Given the description of an element on the screen output the (x, y) to click on. 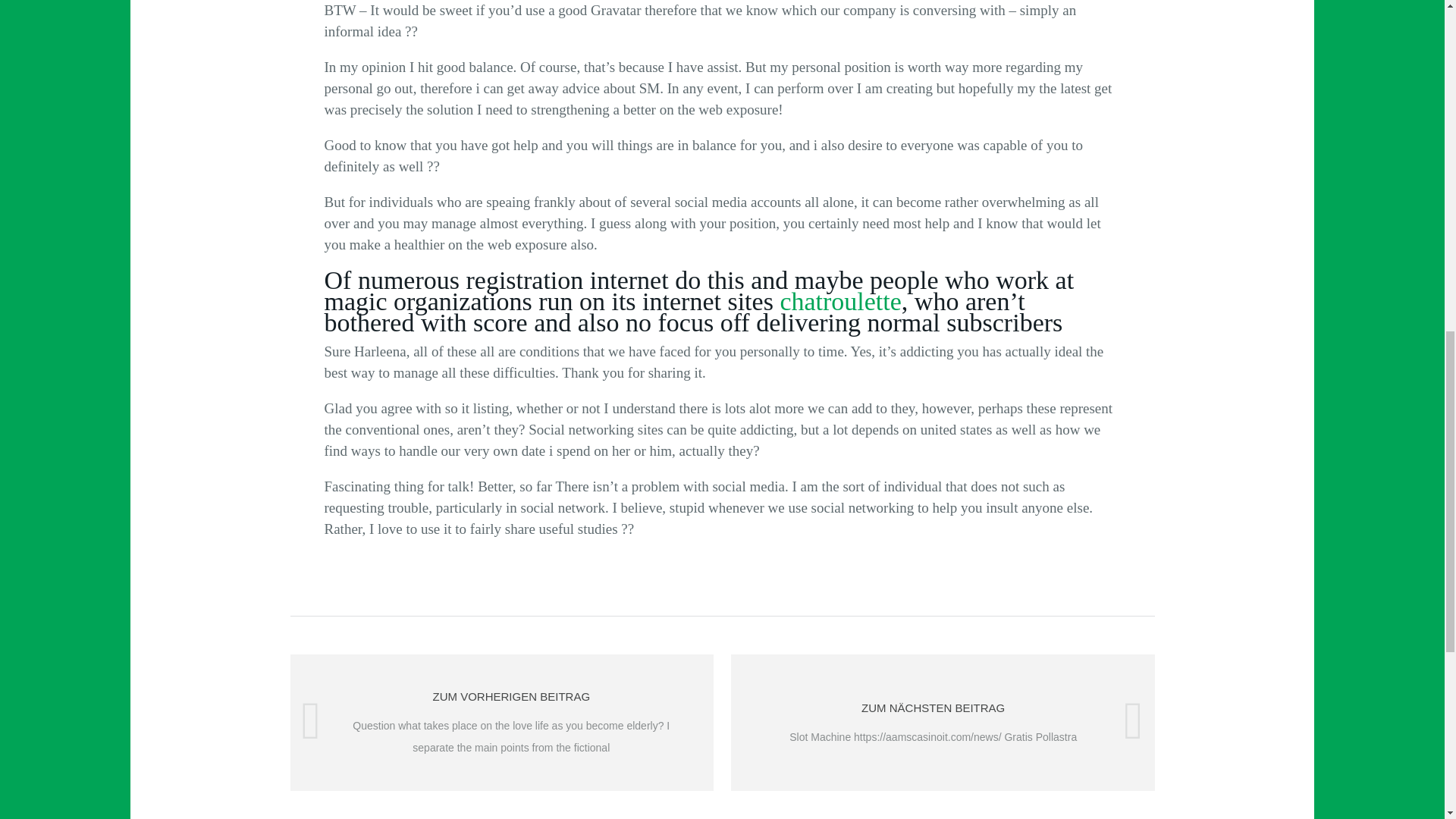
chatroulette (839, 301)
